Given the description of an element on the screen output the (x, y) to click on. 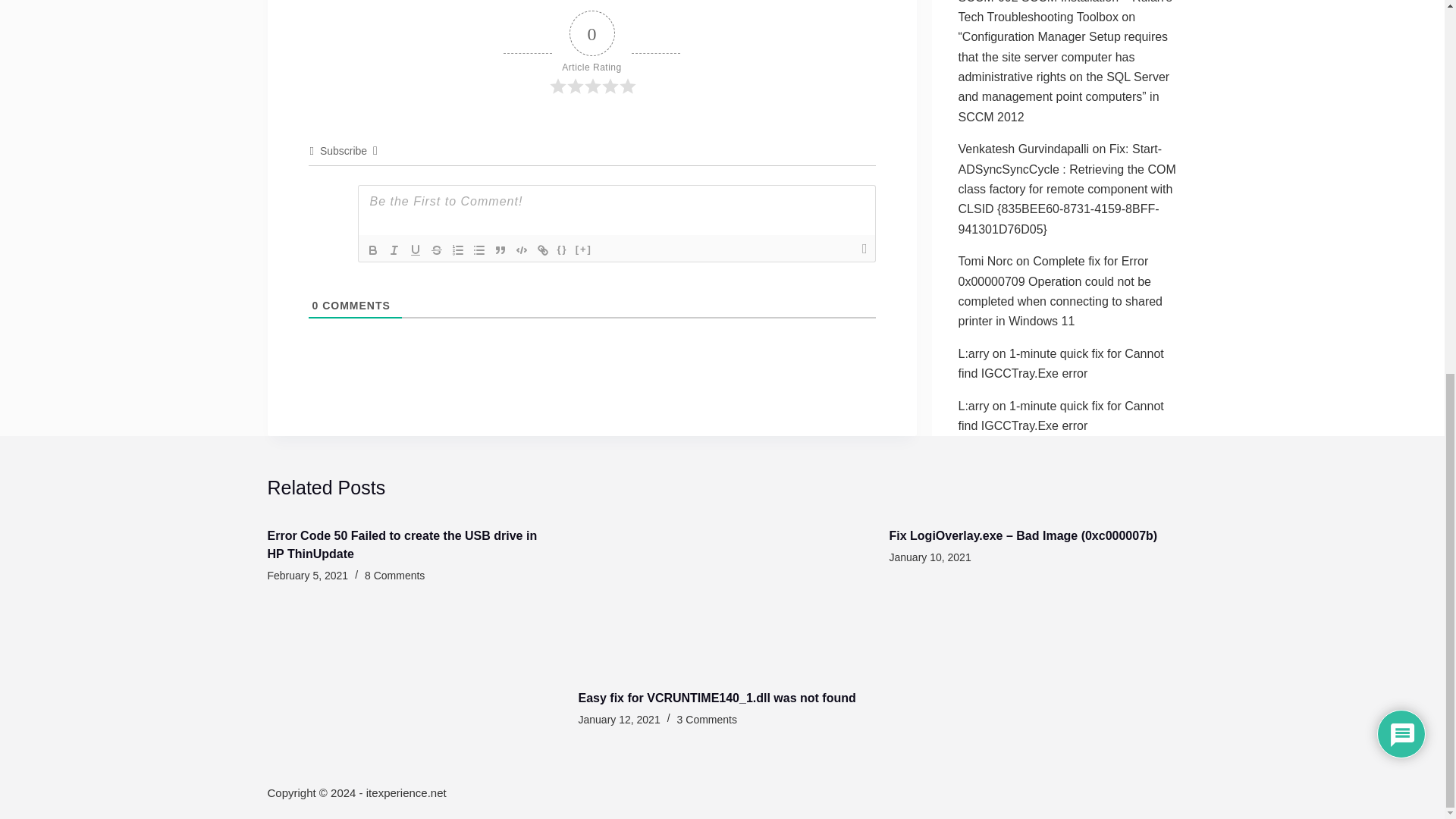
Code Block (521, 249)
Ordered List (457, 249)
Link (542, 249)
Italic (394, 249)
Unordered List (478, 249)
Bold (373, 249)
Blockquote (500, 249)
Strike (436, 249)
Underline (415, 249)
